Given the description of an element on the screen output the (x, y) to click on. 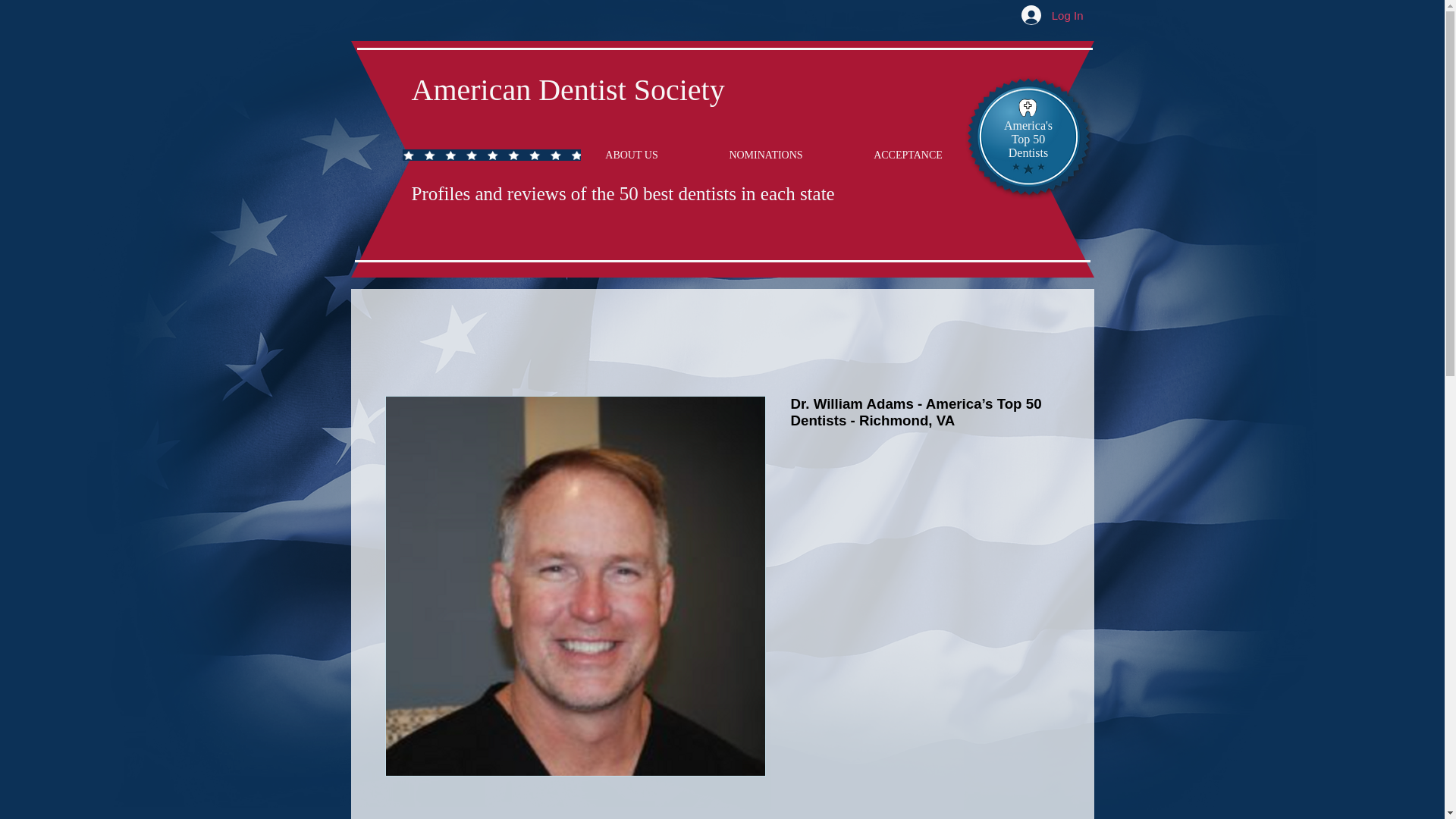
Profiles and reviews of the 50 best dentists in each state (622, 193)
ABOUT US (632, 154)
American Dentist Society (566, 89)
ACCEPTANCE (908, 154)
Log In (1052, 14)
NOMINATIONS (765, 154)
